Given the description of an element on the screen output the (x, y) to click on. 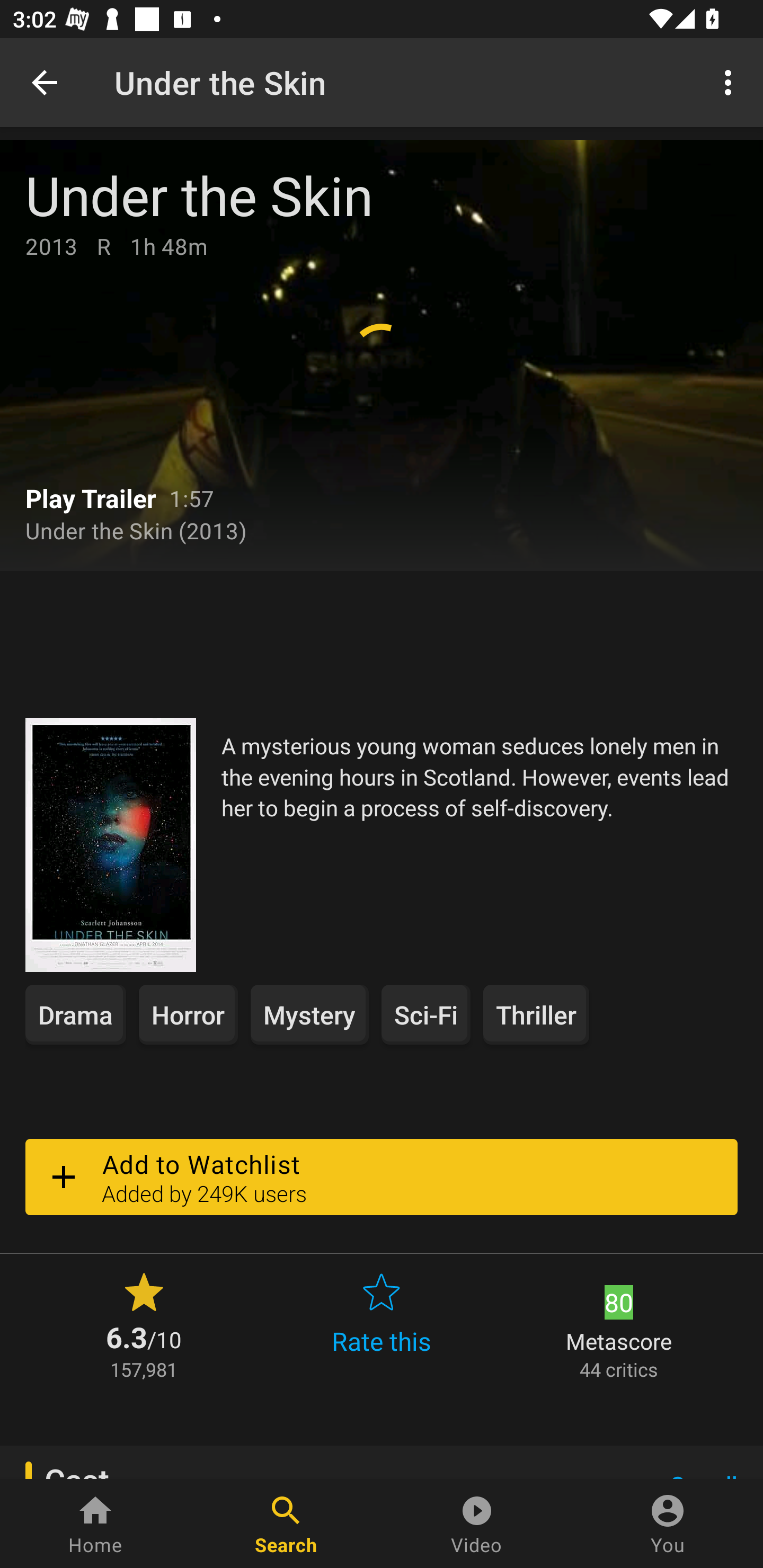
More options (731, 81)
toggle controls (381, 354)
Drama (75, 1014)
Horror (188, 1014)
Mystery (309, 1014)
Sci-Fi (425, 1014)
Thriller (535, 1014)
Add to Watchlist Added by 249K users (381, 1176)
6.3 /10 157,981 (143, 1323)
Rate this (381, 1323)
80 Metascore 44 critics (618, 1323)
Home (95, 1523)
Video (476, 1523)
You (667, 1523)
